Given the description of an element on the screen output the (x, y) to click on. 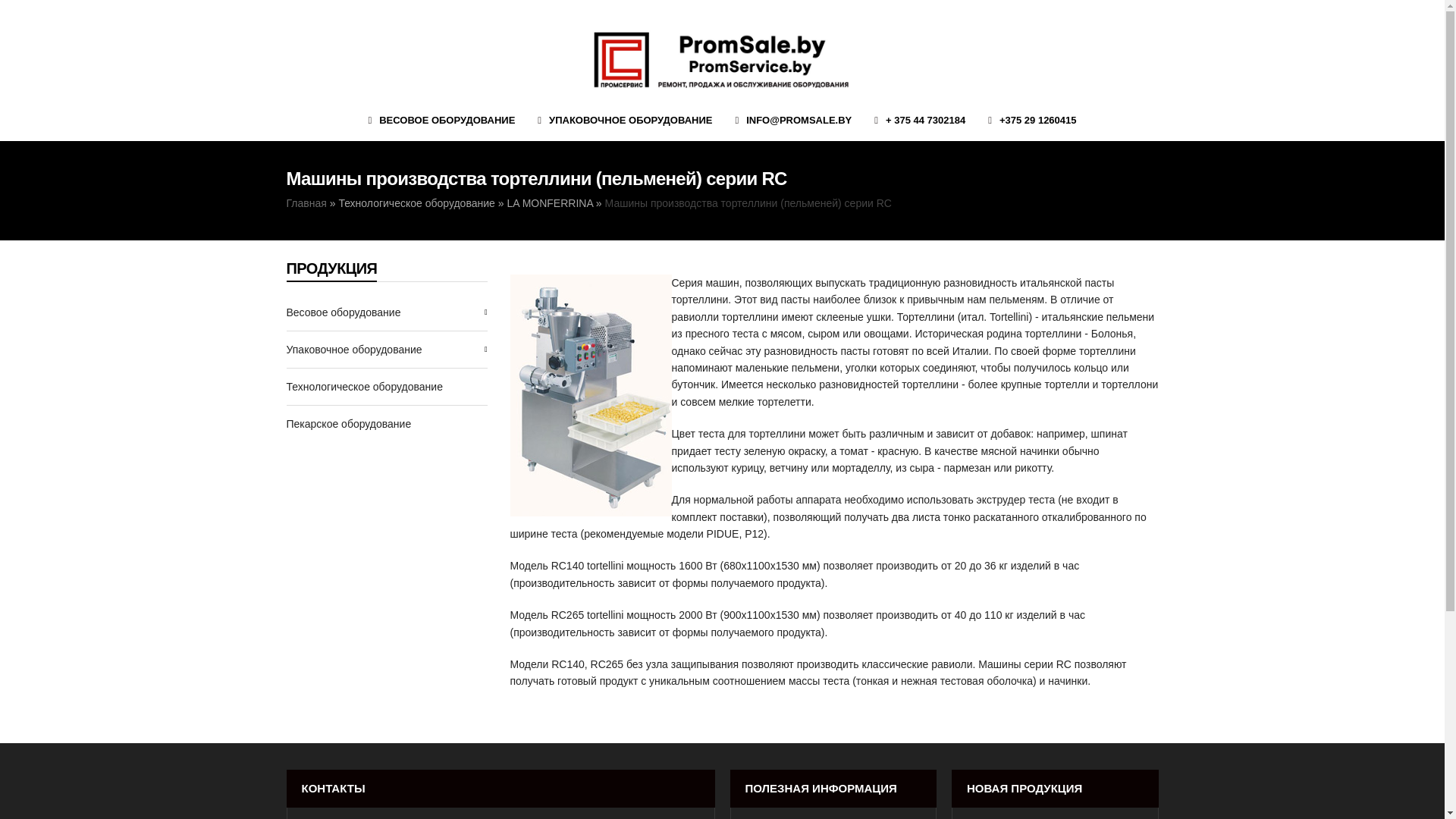
LA MONFERRINA Element type: text (549, 203)
INFO@PROMSALE.BY Element type: text (792, 119)
+375 29 1260415 Element type: text (1032, 119)
+ 375 44 7302184 Element type: text (919, 119)
